Given the description of an element on the screen output the (x, y) to click on. 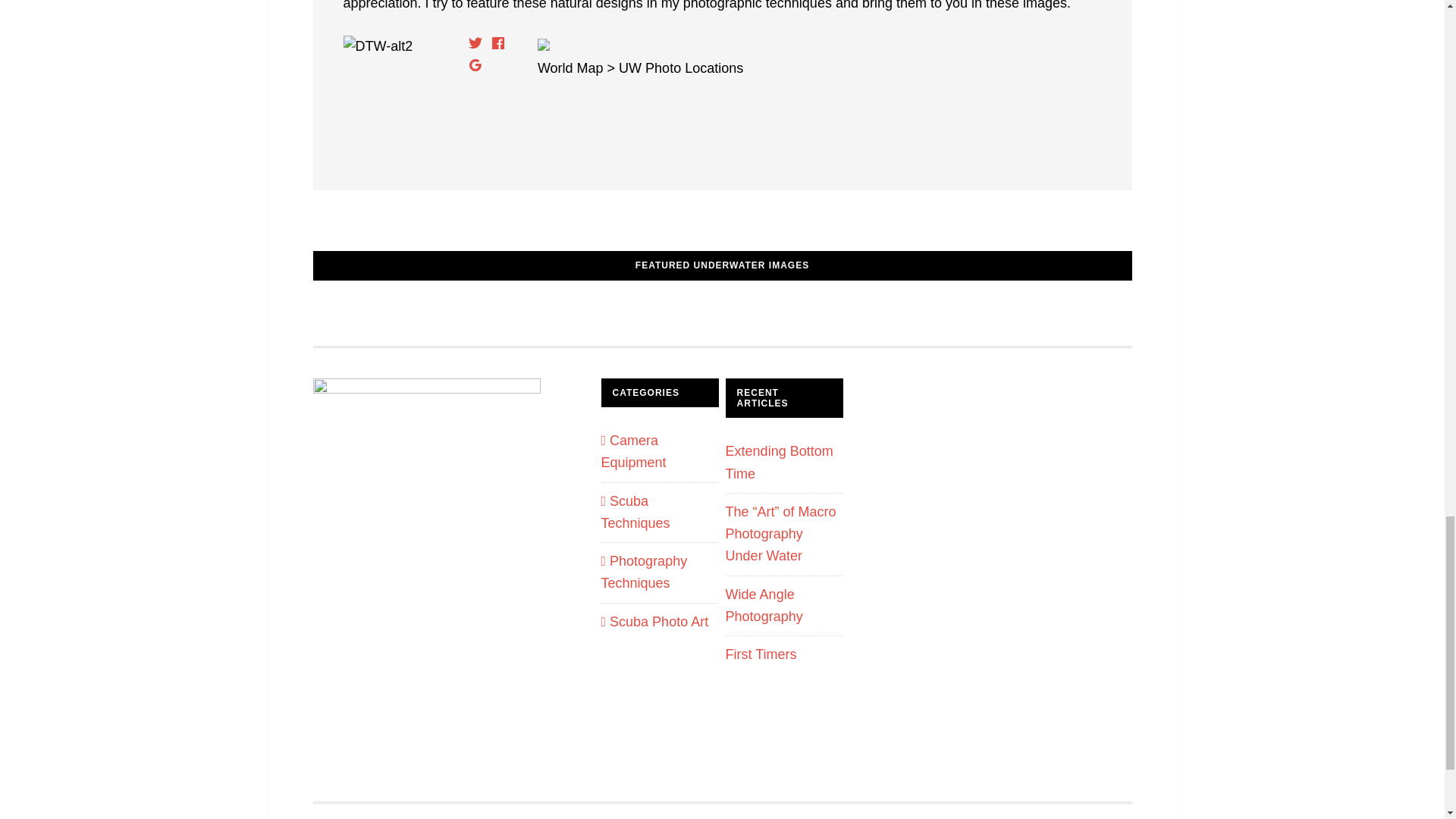
Photography Techniques (643, 571)
Extending Bottom Time (778, 461)
Scuba Techniques (634, 511)
Scuba Photo Art (653, 621)
Camera Equipment (632, 451)
